Given the description of an element on the screen output the (x, y) to click on. 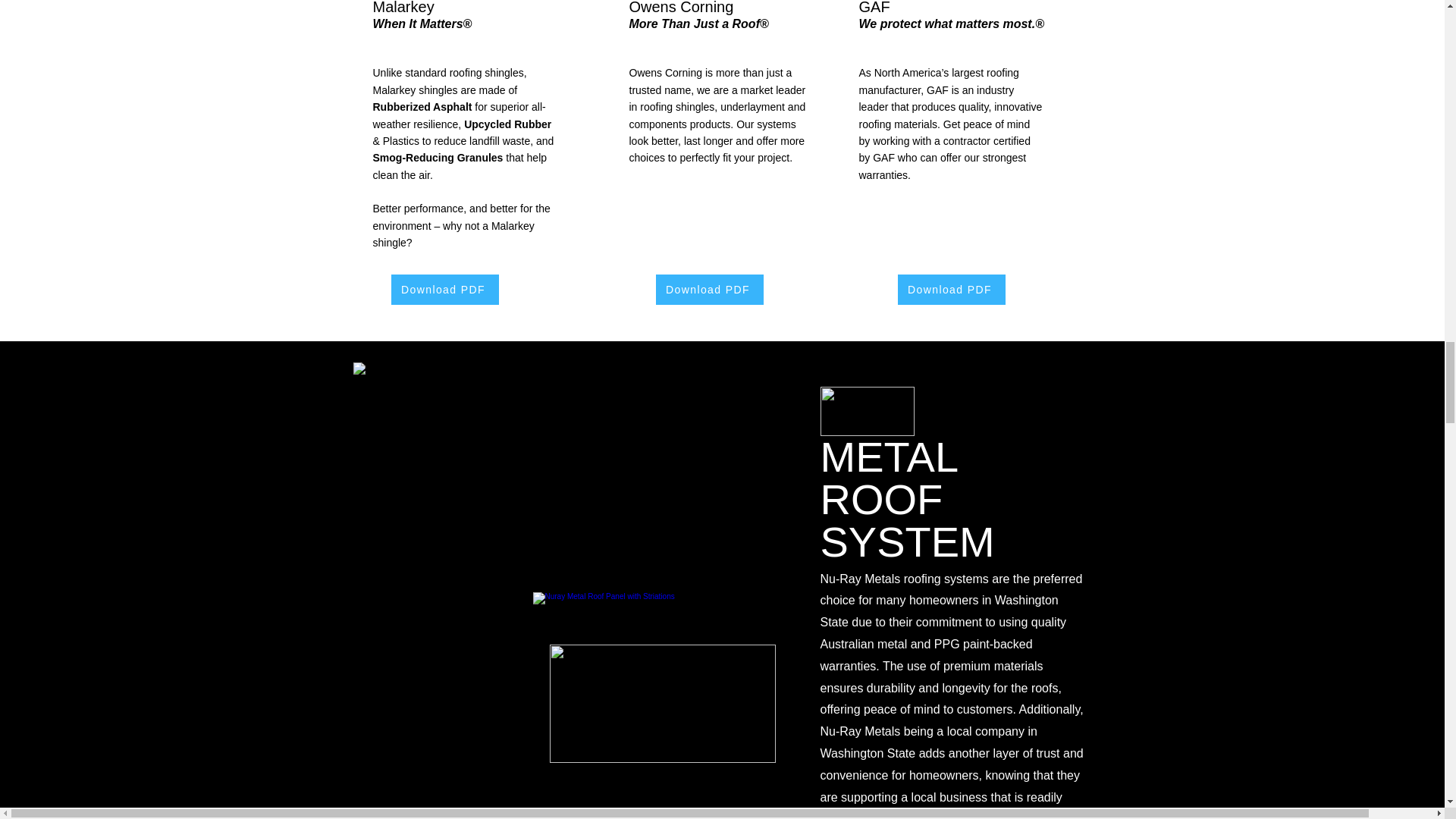
Download PDF (708, 289)
Download PDF (445, 289)
Download PDF (952, 289)
